Given the description of an element on the screen output the (x, y) to click on. 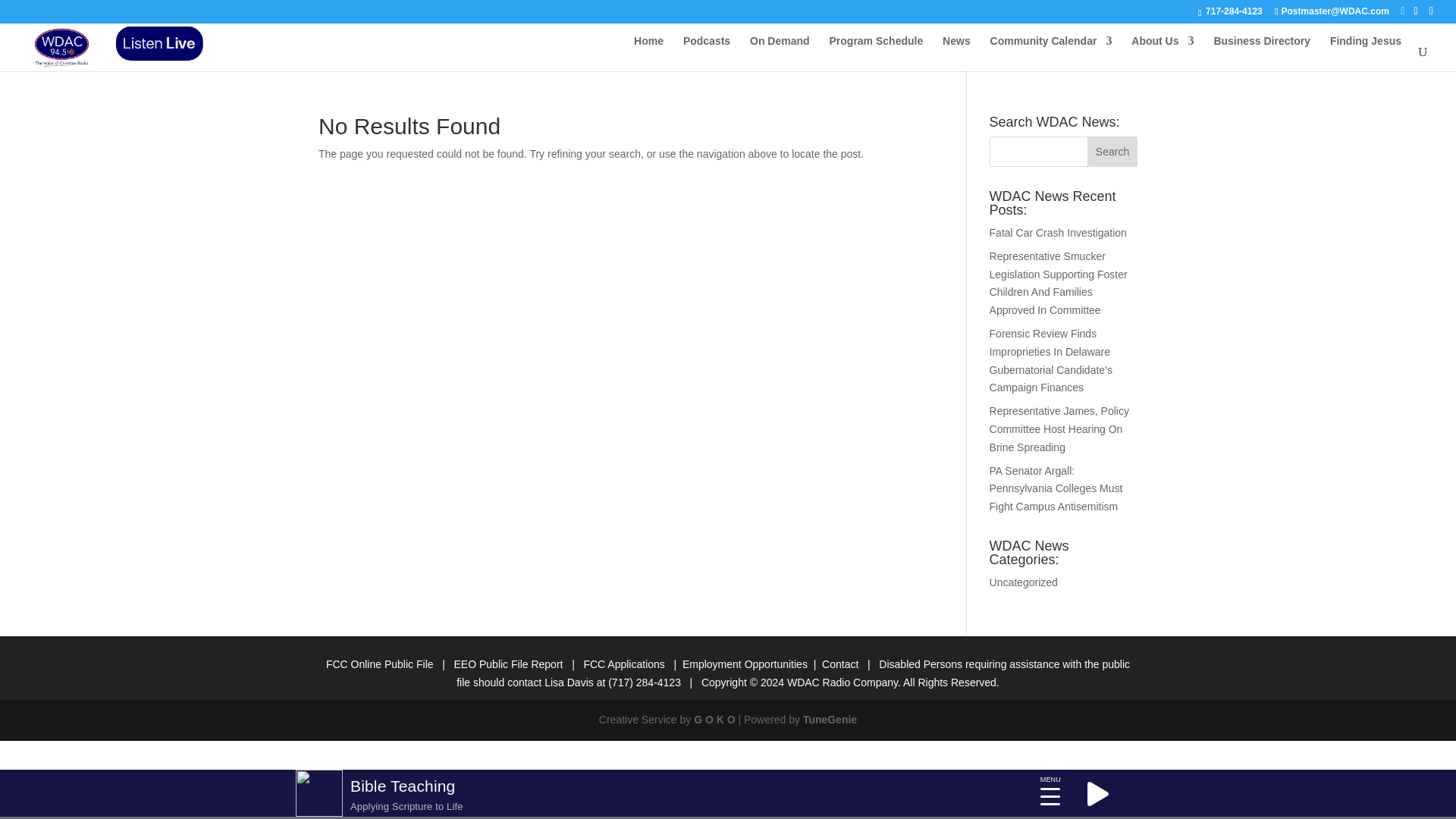
Business Directory (1261, 53)
Community Calendar (1051, 53)
Podcasts (706, 53)
On Demand (779, 53)
Search (1112, 151)
Program Schedule (876, 53)
Finding Jesus (1365, 53)
About Us (1162, 53)
